Given the description of an element on the screen output the (x, y) to click on. 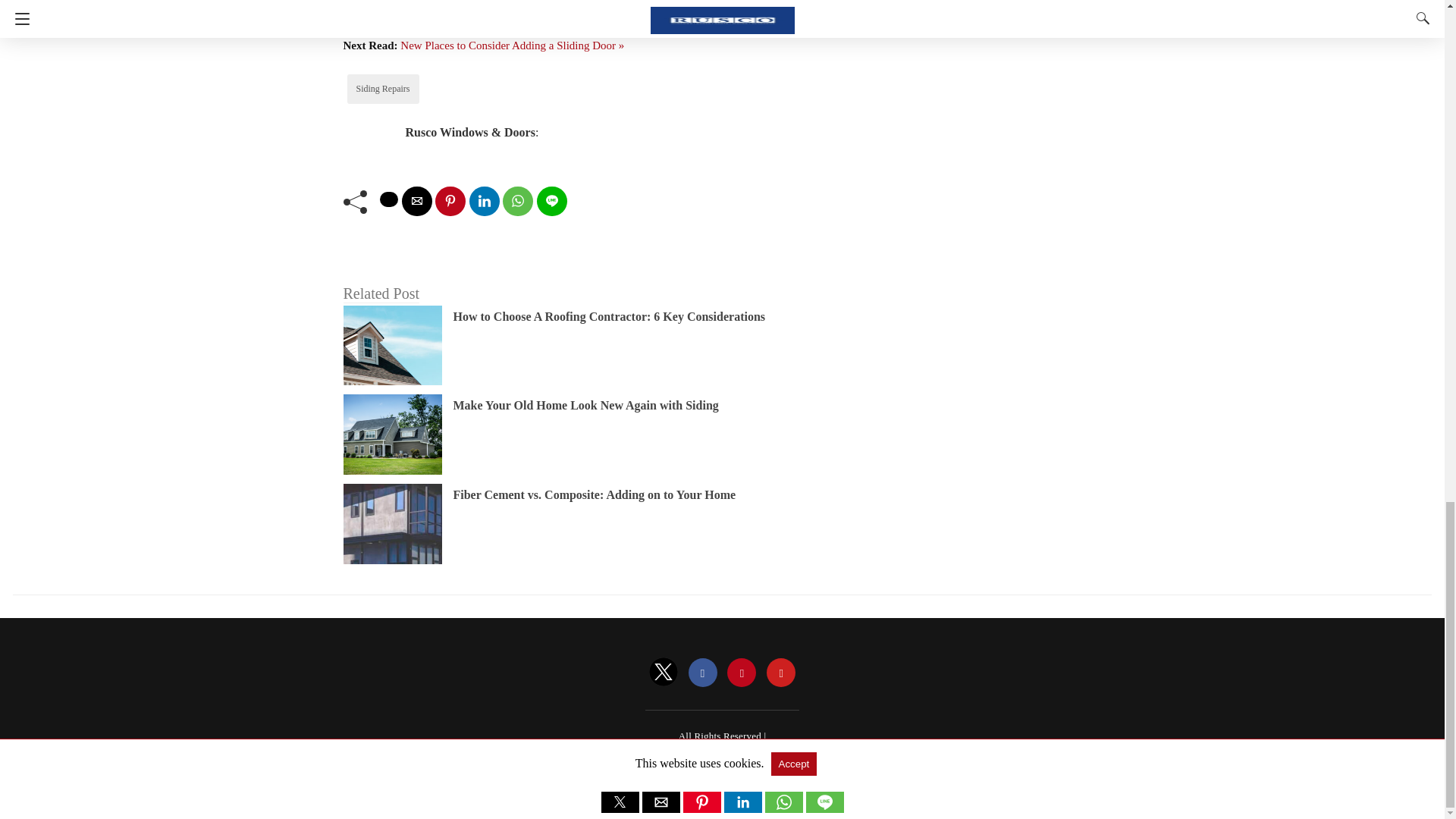
Fiber Cement vs. Composite: Adding on to Your Home (594, 494)
How to Choose A Roofing Contractor: 6 Key Considerations (608, 316)
pinterest profile (740, 673)
pinterest share (450, 201)
whatsapp share (517, 201)
How to Choose A Roofing Contractor: 6 Key Considerations (608, 316)
Siding Repairs (383, 88)
Powered by AMPforWP (722, 755)
linkedin share (483, 201)
youtube profile (780, 673)
Fiber Cement vs. Composite: Adding on to Your Home (594, 494)
twitter share (388, 199)
twitter profile (663, 673)
line share (552, 201)
Make Your Old Home Look New Again with Siding (585, 404)
